Given the description of an element on the screen output the (x, y) to click on. 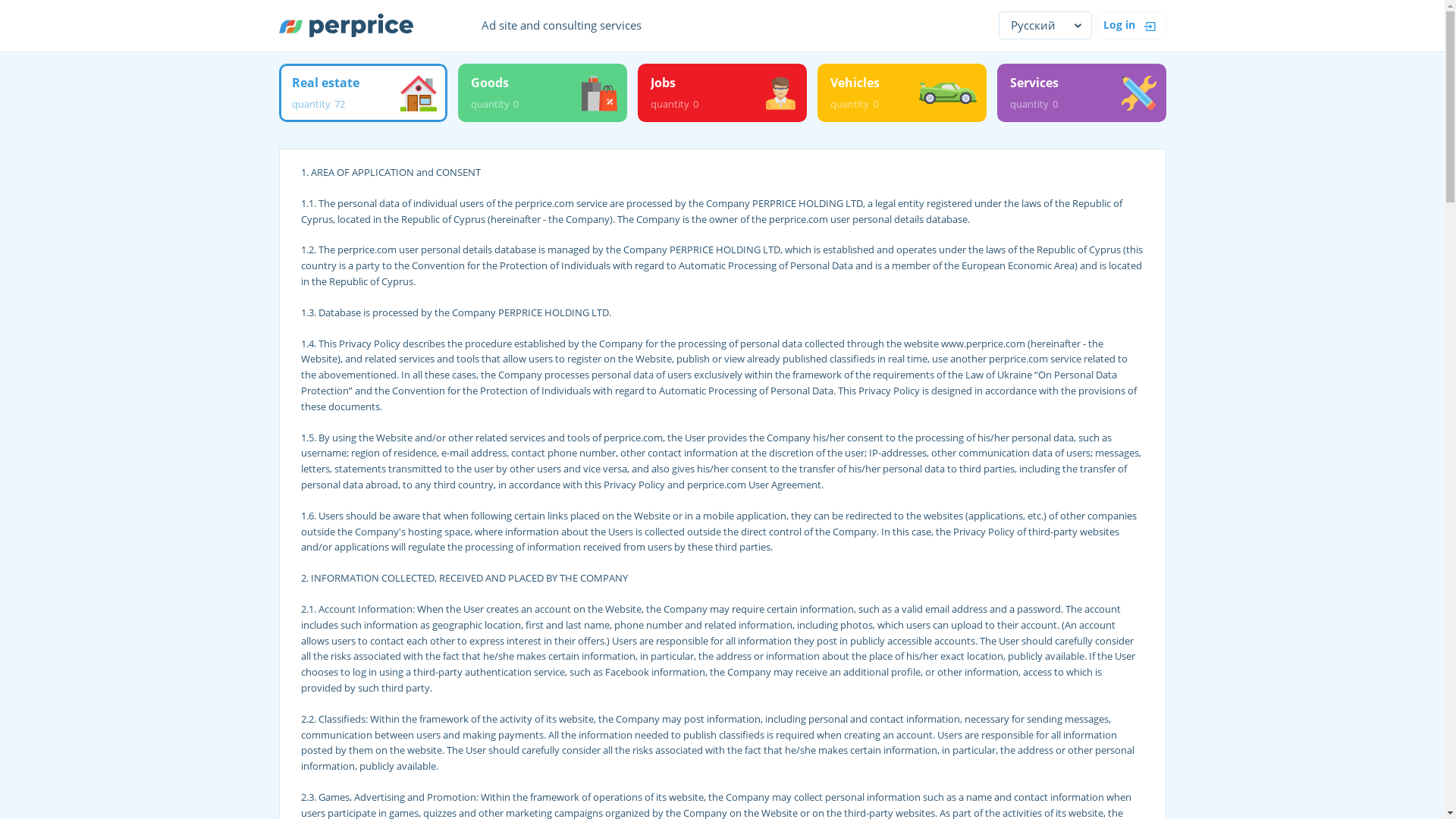
Log in (721, 92)
